Given the description of an element on the screen output the (x, y) to click on. 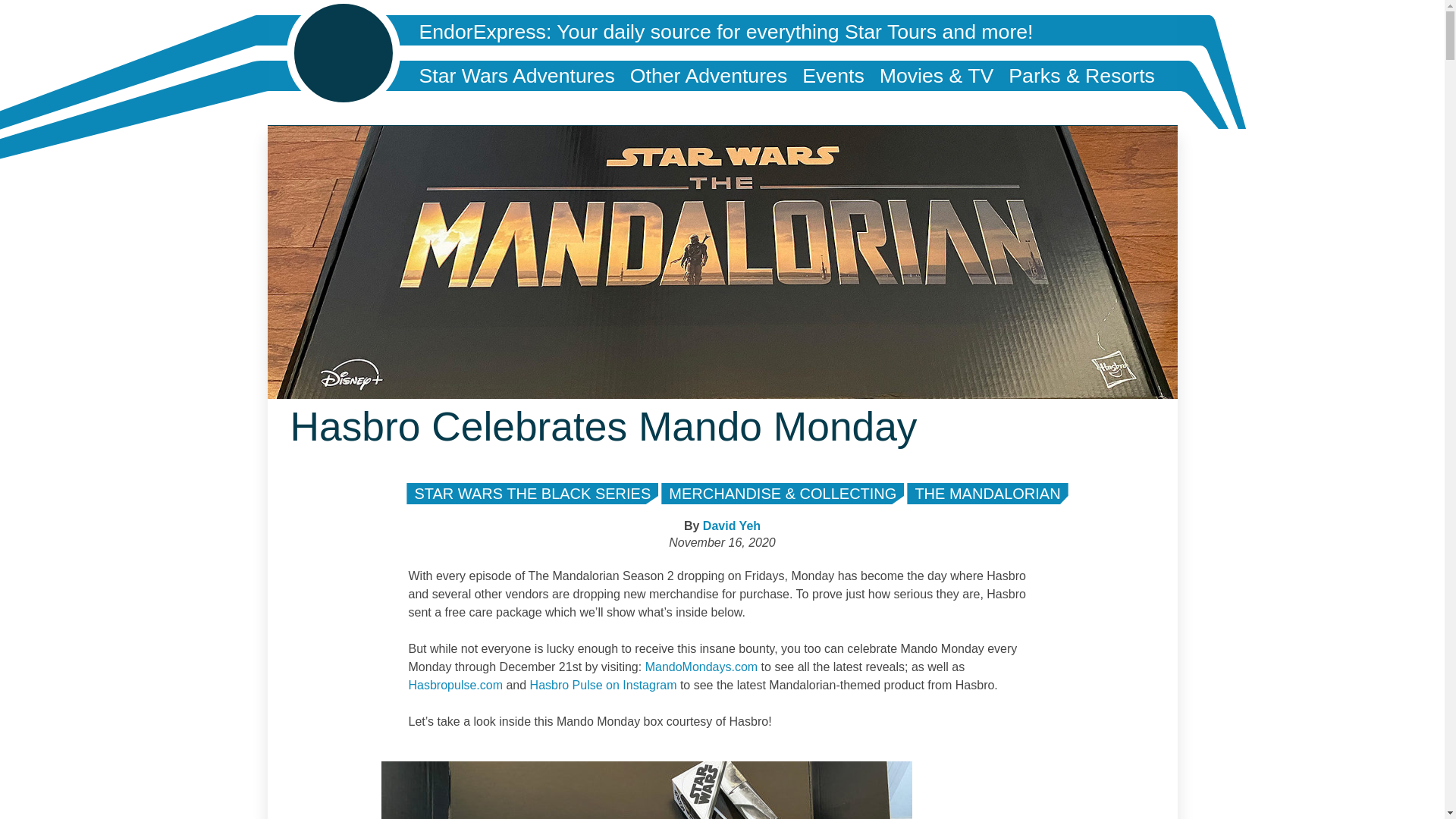
Star Wars Adventures (515, 75)
Hasbropulse.com (454, 684)
Events (833, 75)
THE MANDALORIAN (986, 493)
About (444, 105)
Posts by David Yeh (731, 525)
Your daily source for everything Star Tours and more! (794, 31)
David Yeh (731, 525)
Hasbro Pulse on Instagram (603, 684)
Other Adventures (708, 75)
